Given the description of an element on the screen output the (x, y) to click on. 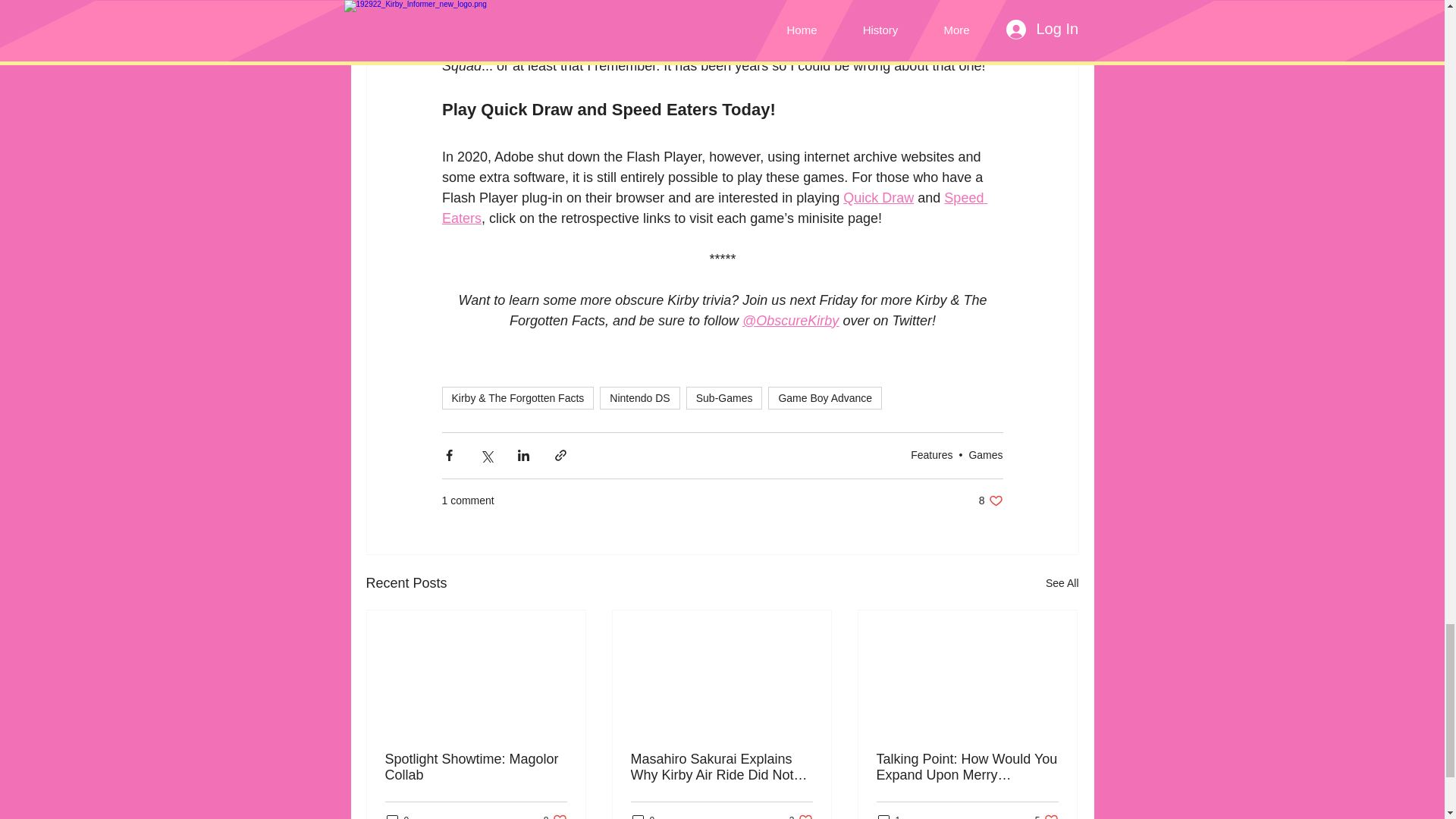
Speed Eaters (800, 816)
0 (714, 208)
Sub-Games (1046, 816)
Talking Point: How Would You Expand Upon Merry Magoland? (643, 816)
Game Boy Advance (723, 397)
Quick Draw (967, 766)
Games (825, 397)
